Given the description of an element on the screen output the (x, y) to click on. 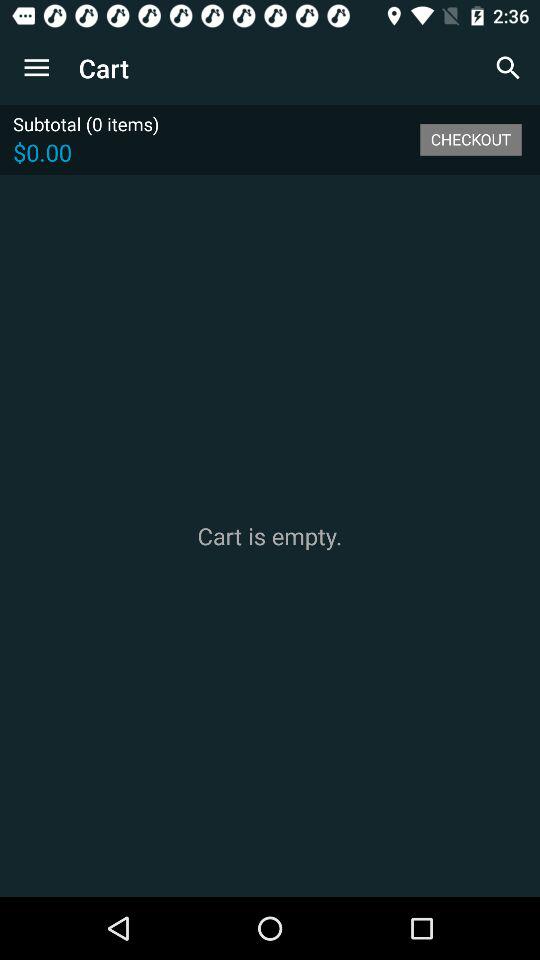
launch the app to the left of the cart app (36, 68)
